Given the description of an element on the screen output the (x, y) to click on. 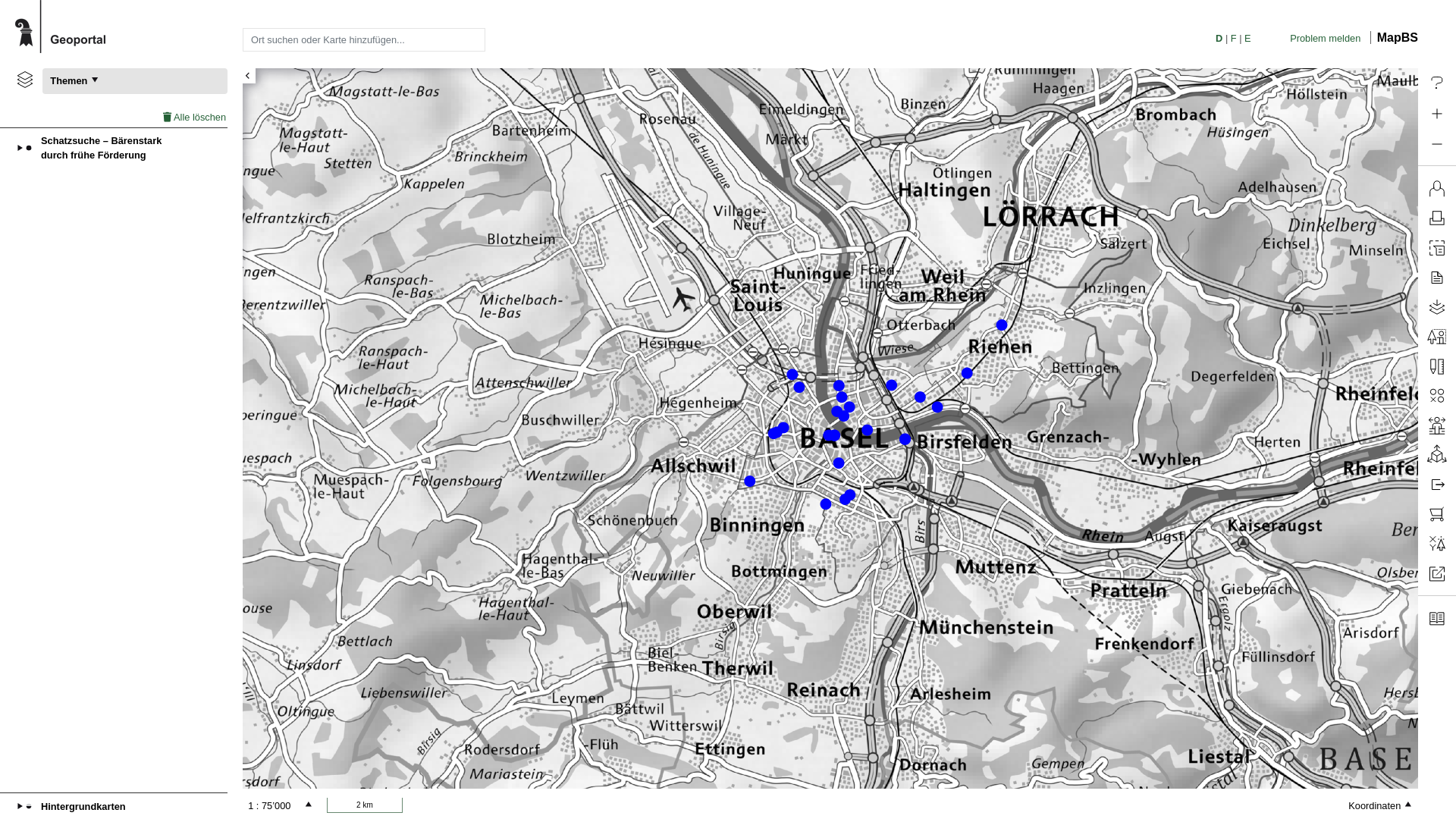
MapBS Element type: text (1394, 37)
Problem melden Element type: text (1324, 38)
Koordinaten Element type: text (1338, 805)
 D  Element type: text (1219, 37)
 F  Element type: text (1233, 37)
Themen Element type: text (134, 81)
 E  Element type: text (1247, 37)
